Given the description of an element on the screen output the (x, y) to click on. 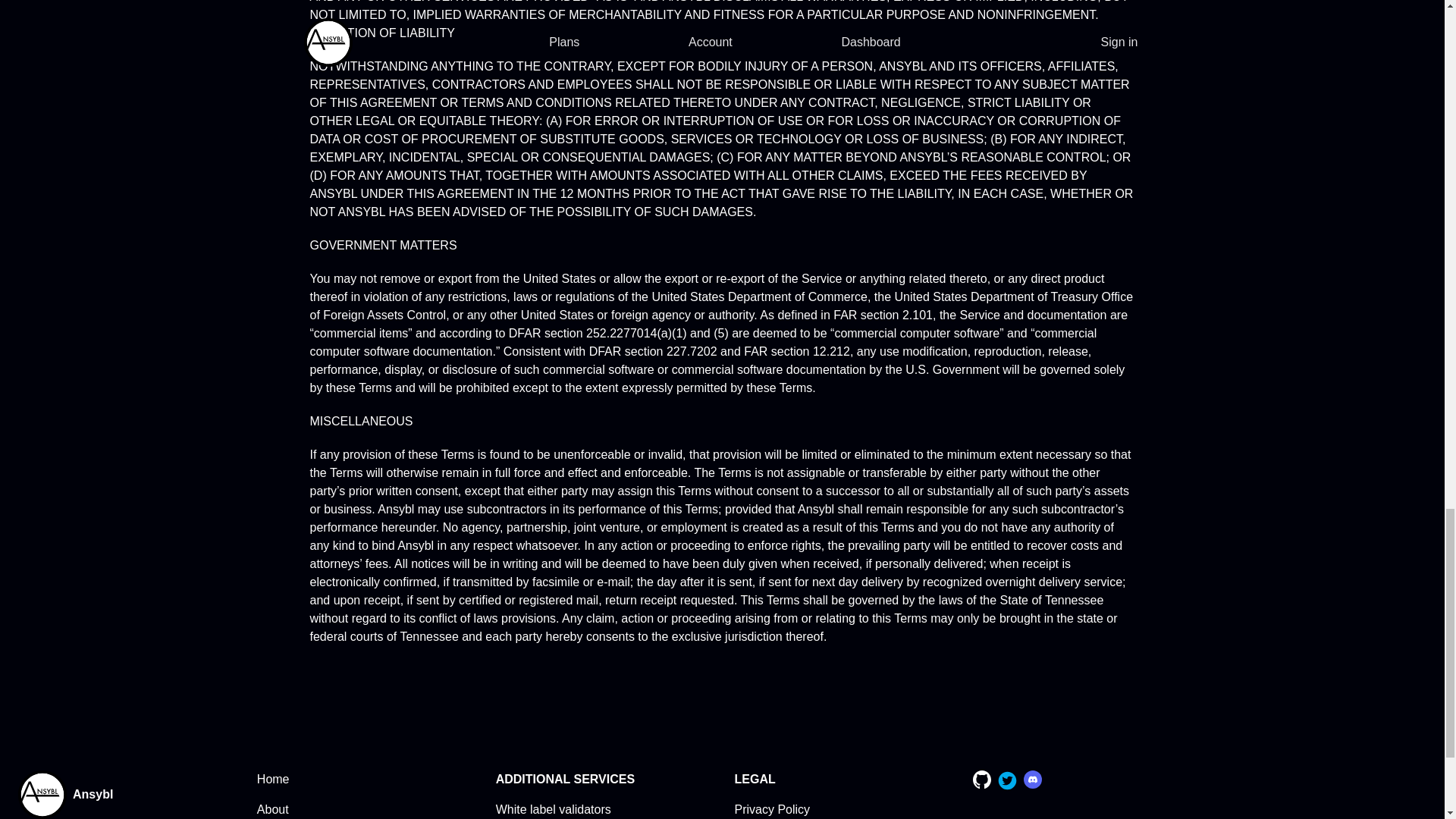
About (272, 809)
White label validators (553, 809)
Ansybl (88, 794)
Home (273, 779)
Privacy Policy (771, 809)
